Given the description of an element on the screen output the (x, y) to click on. 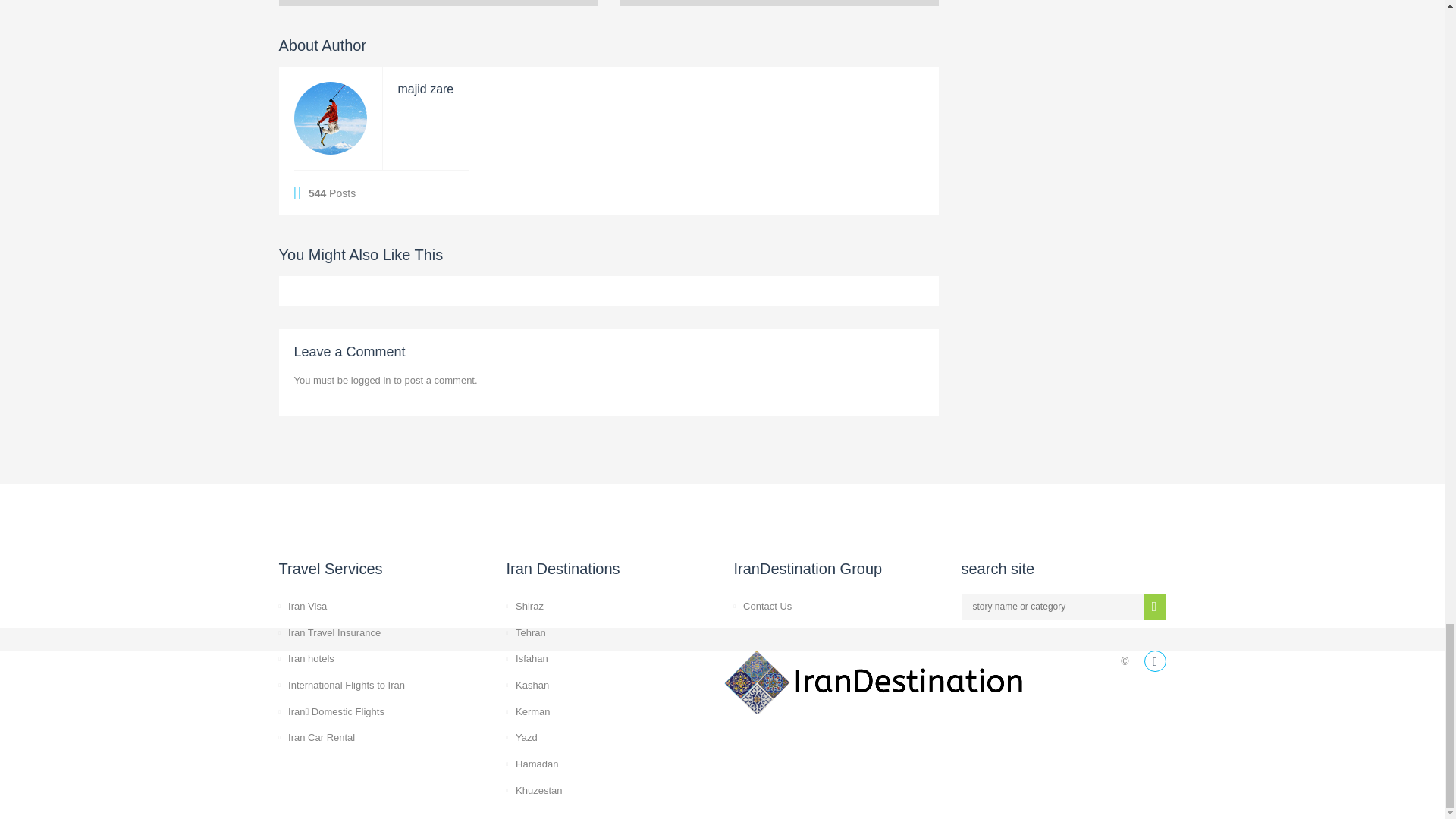
Posts by majid zare (424, 88)
